Given the description of an element on the screen output the (x, y) to click on. 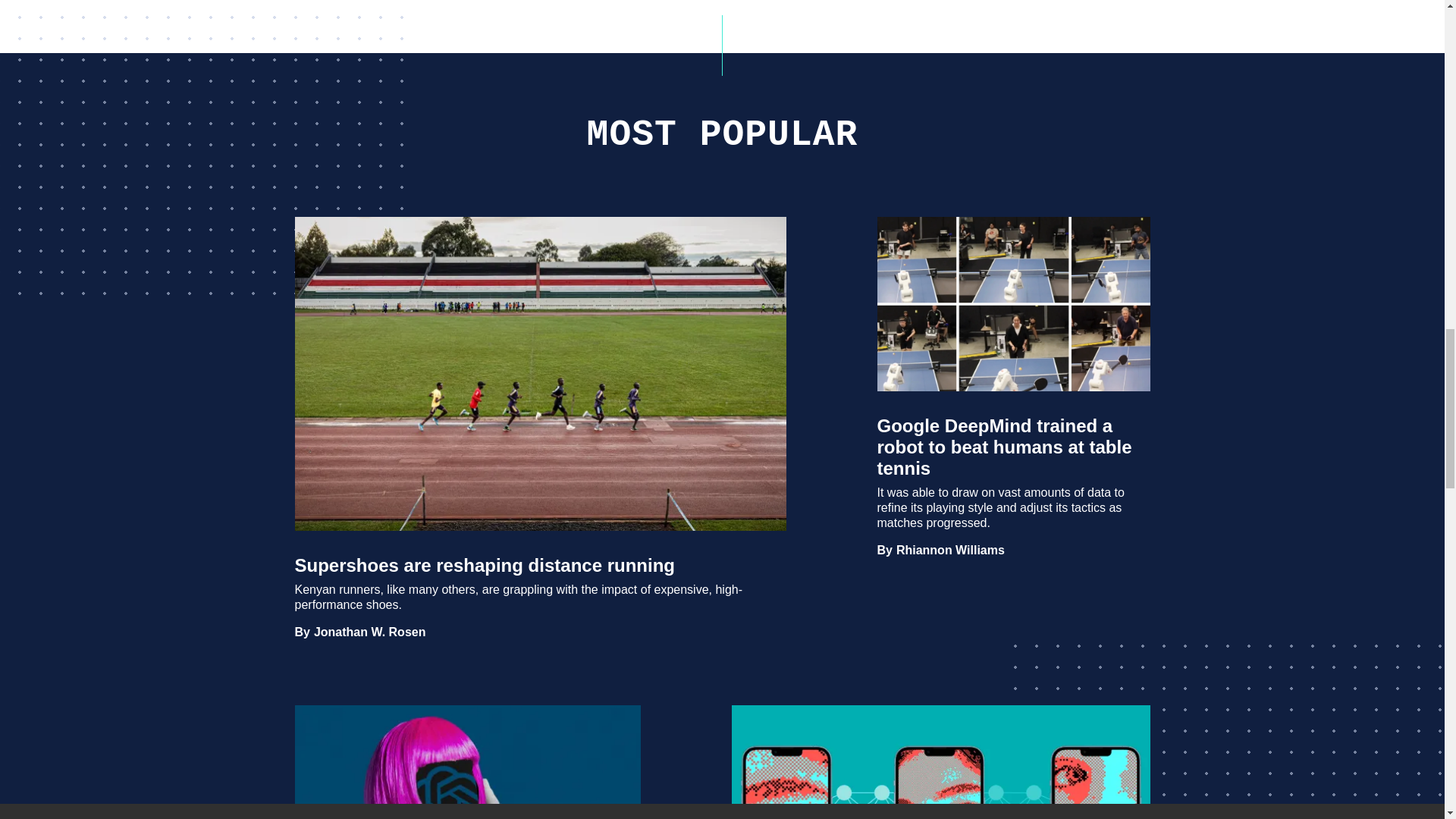
Supershoes are reshaping distance running (370, 631)
